Given the description of an element on the screen output the (x, y) to click on. 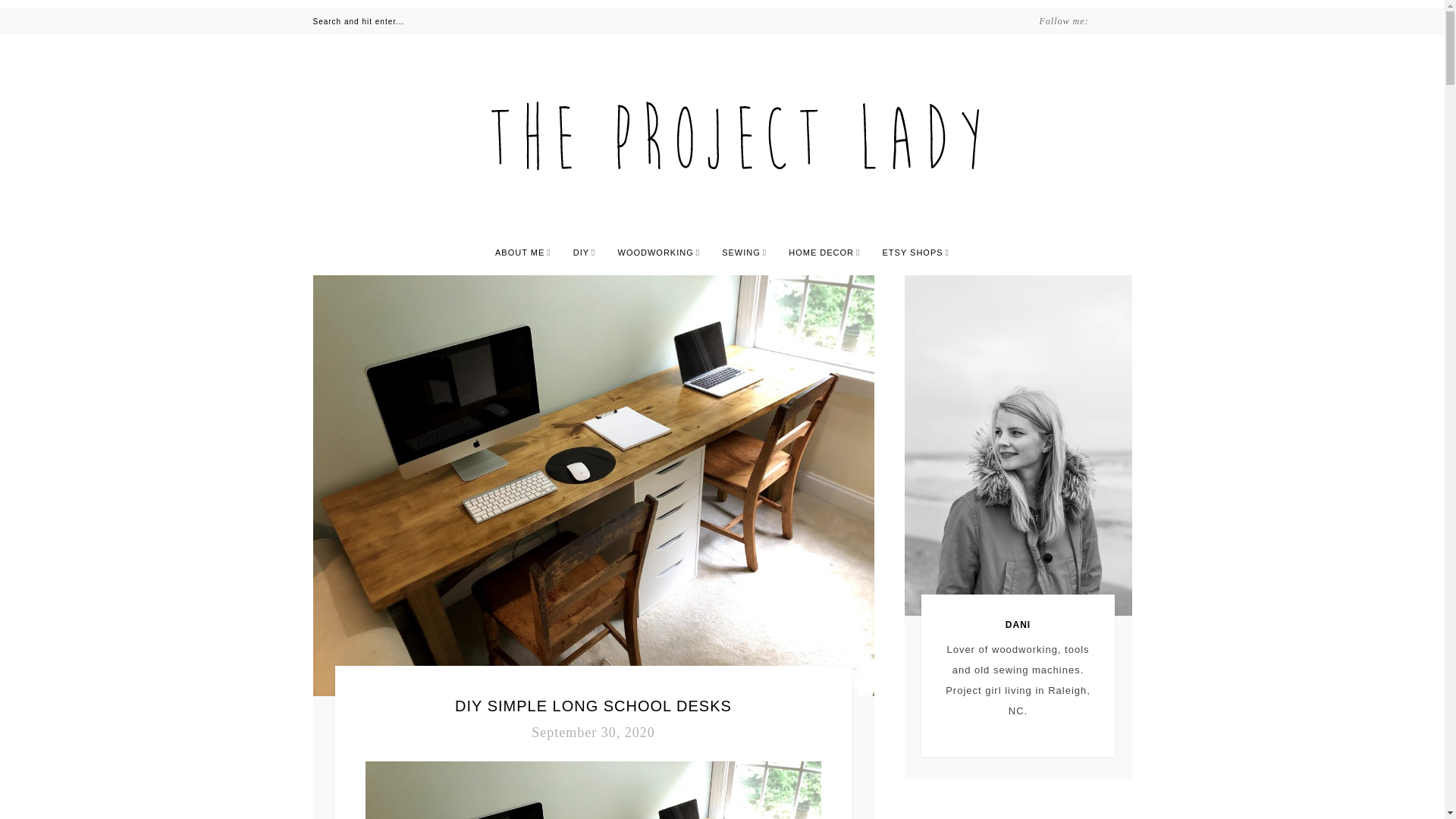
SEWING (744, 252)
WOODWORKING (658, 252)
DIY (584, 252)
ABOUT ME (523, 252)
